Given the description of an element on the screen output the (x, y) to click on. 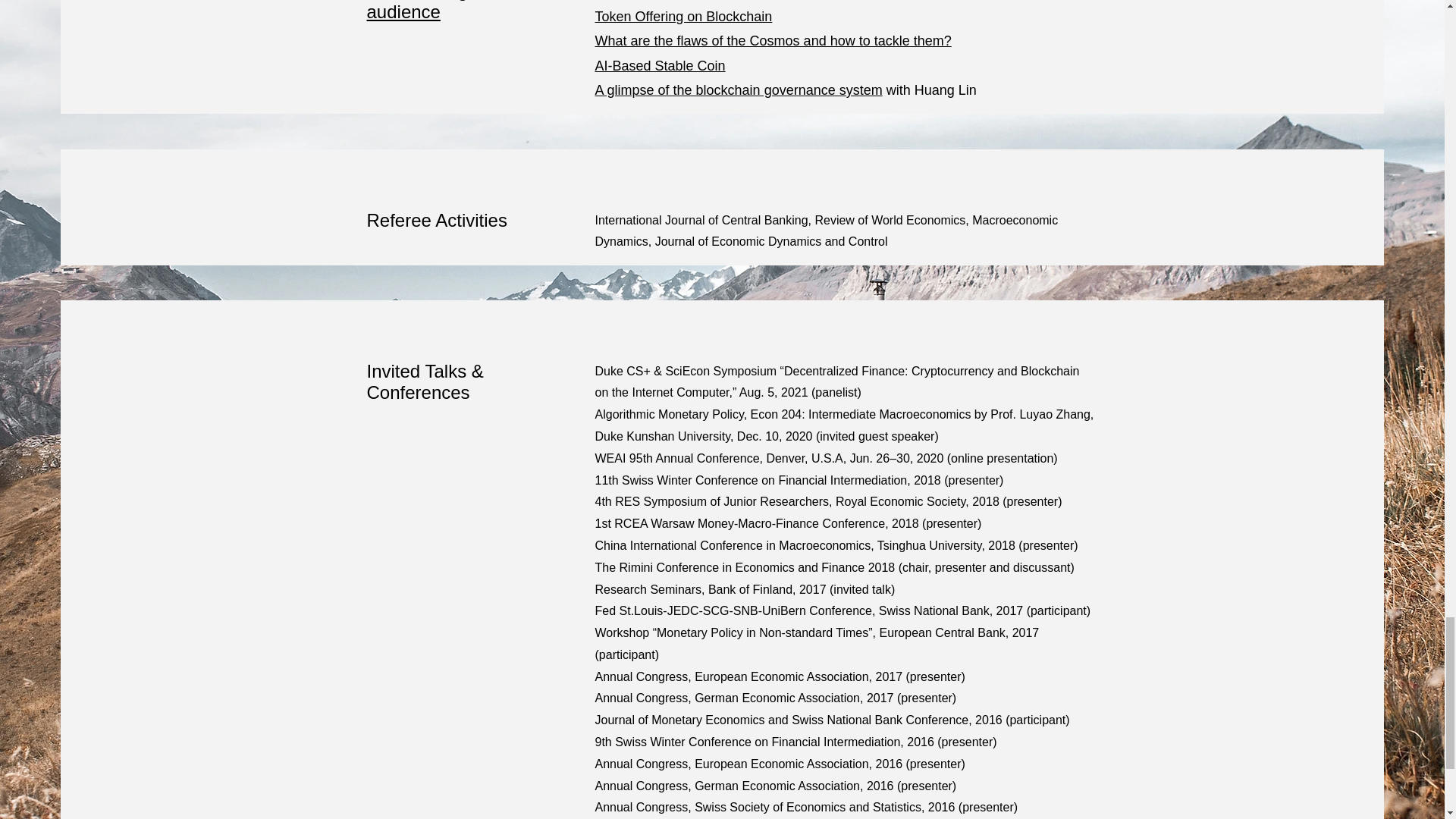
AI-Based Stable Coin (659, 65)
Articles for general audience (442, 11)
Token Offering on Blockchain (682, 16)
A glimpse of the blockchain governance system (738, 89)
What are the flaws of the Cosmos and how to tackle them? (772, 40)
